Given the description of an element on the screen output the (x, y) to click on. 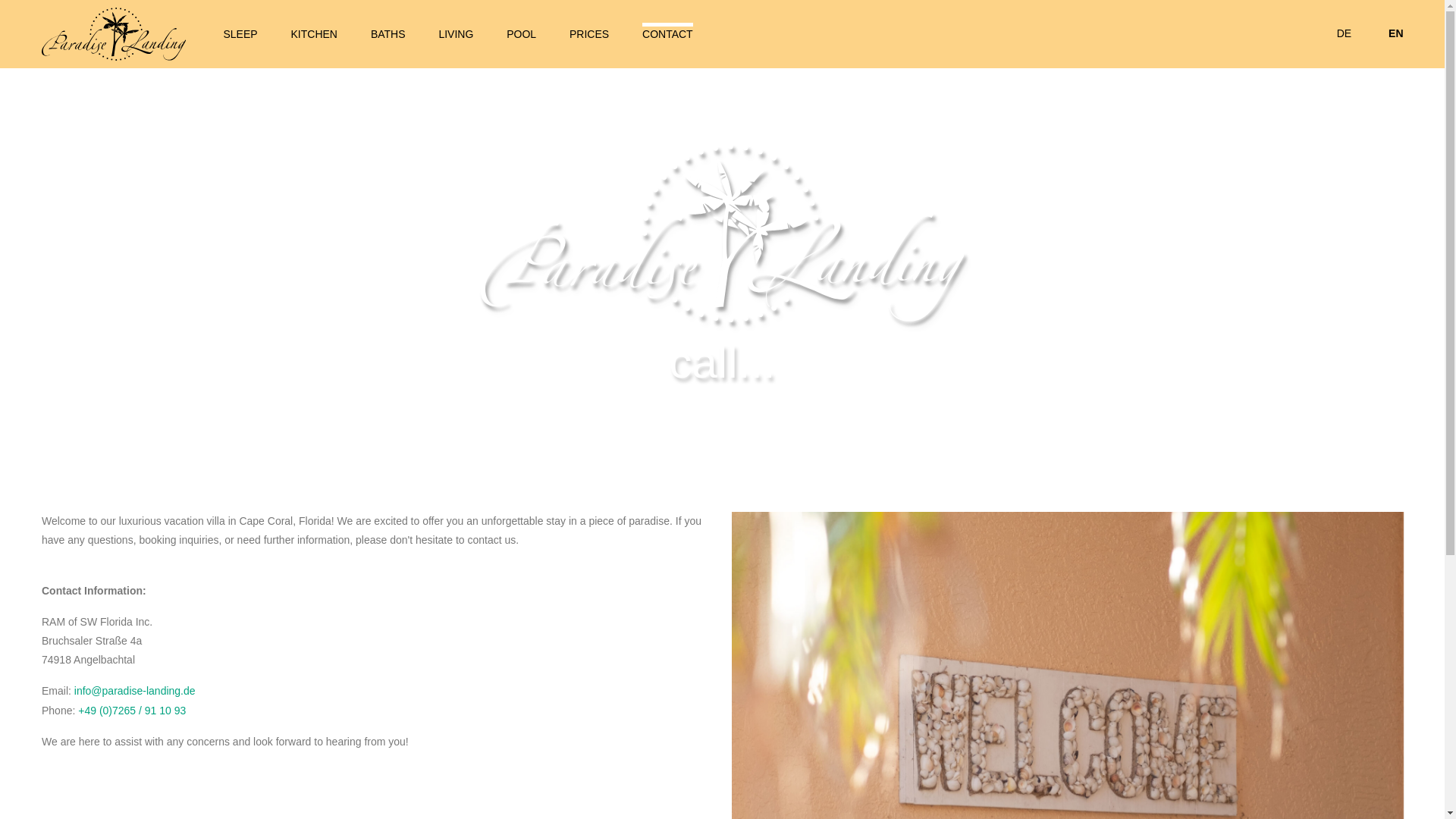
DE (1343, 33)
EN (1396, 33)
E-Mail senden (134, 690)
anrufen (132, 710)
